Given the description of an element on the screen output the (x, y) to click on. 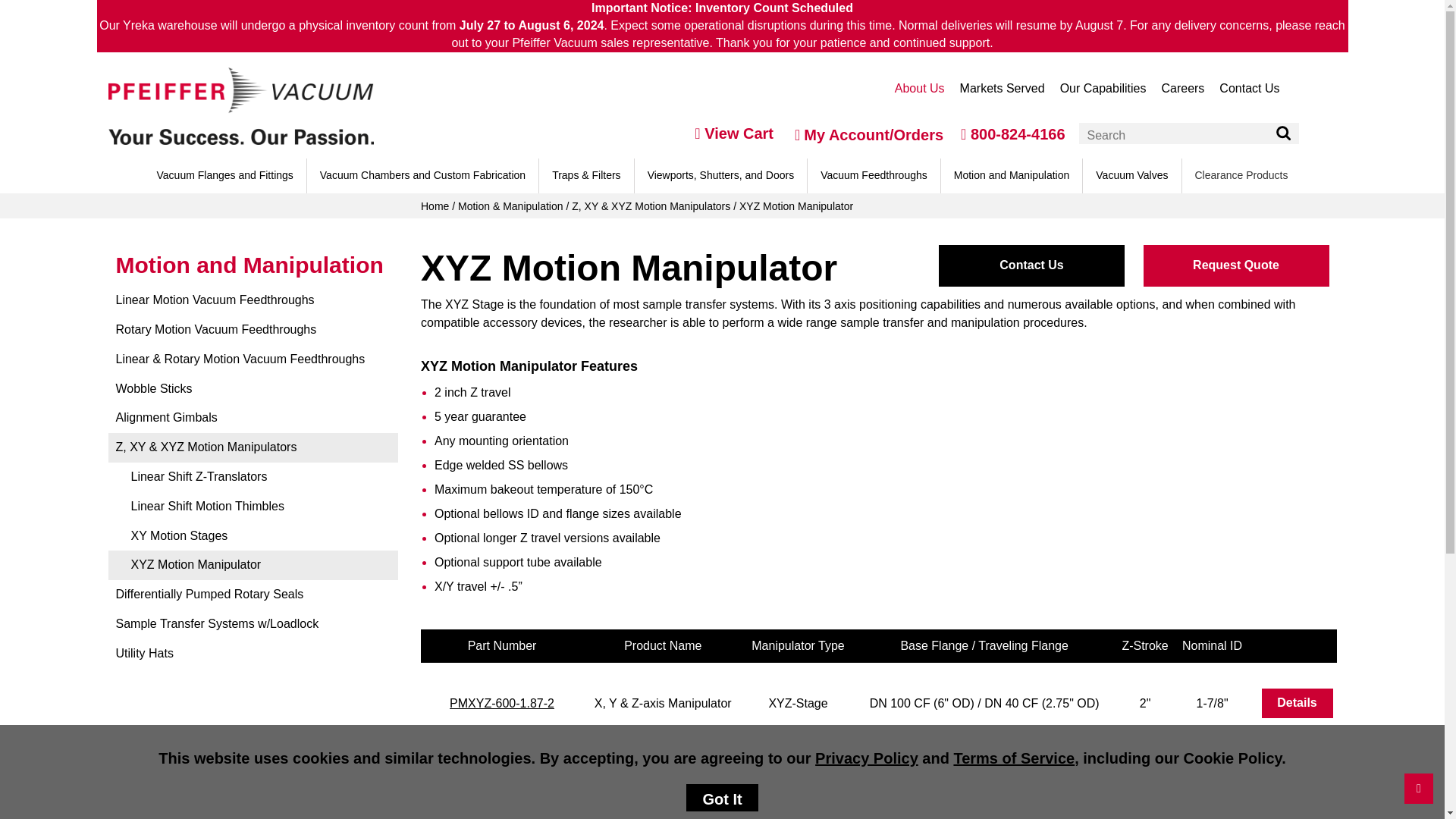
Back to top (1418, 788)
Our Capabilities (1103, 88)
Contact Us (1249, 88)
About Us (919, 88)
View Cart (734, 133)
Careers (1182, 88)
Markets Served (1002, 88)
